Given the description of an element on the screen output the (x, y) to click on. 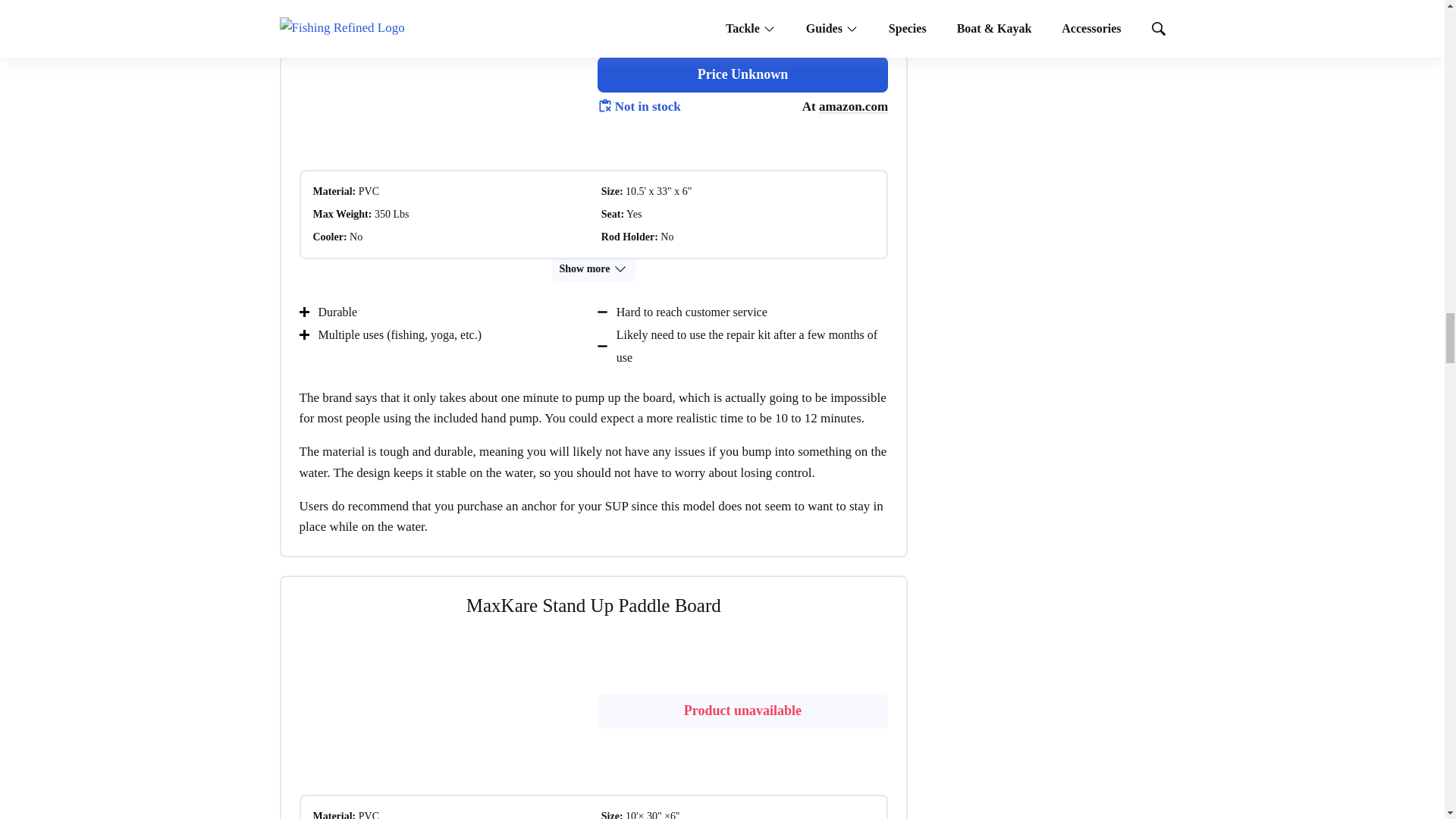
amazon.com (853, 106)
Price Unknown (742, 74)
